Given the description of an element on the screen output the (x, y) to click on. 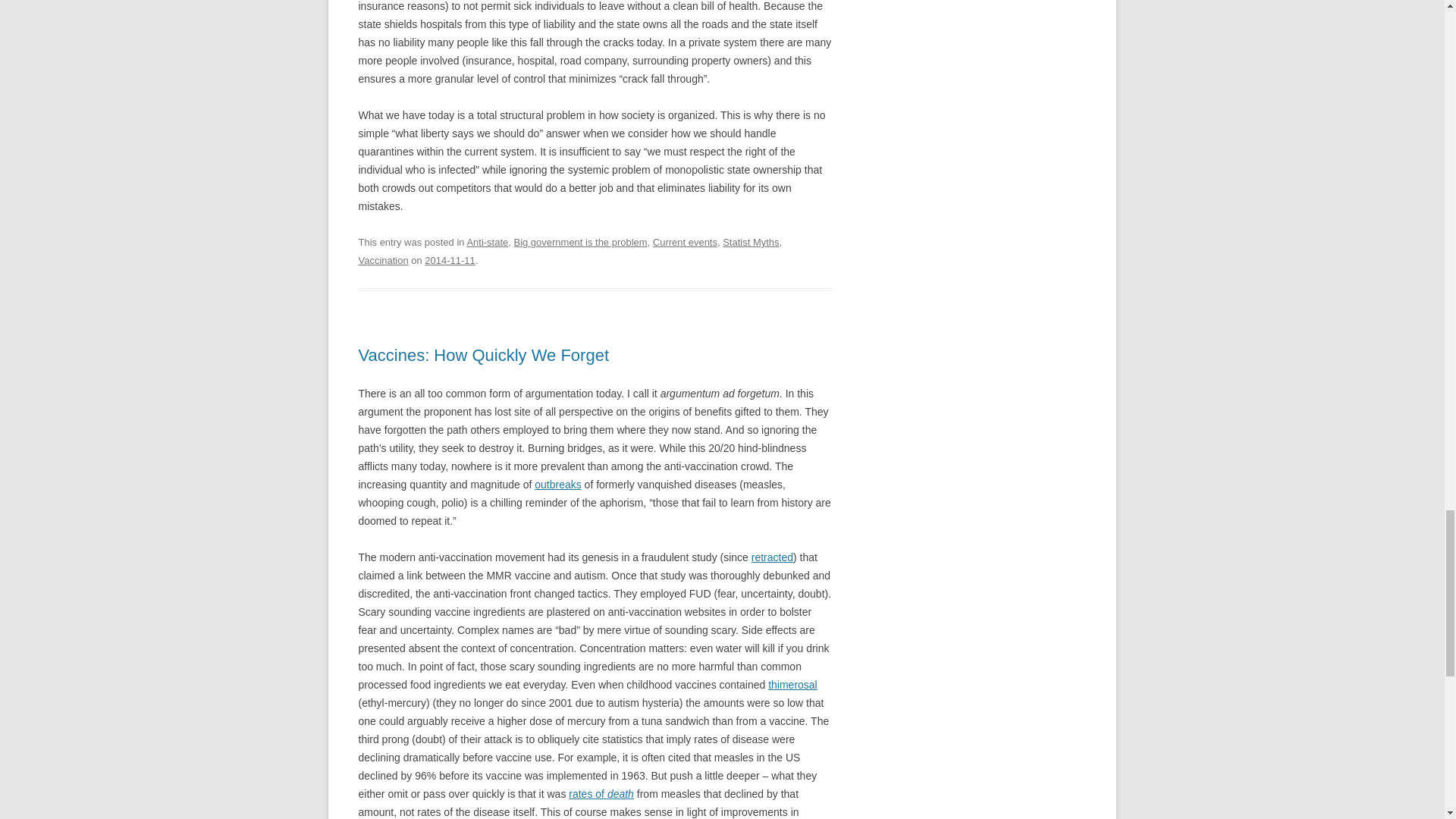
07:36 (449, 260)
